Given the description of an element on the screen output the (x, y) to click on. 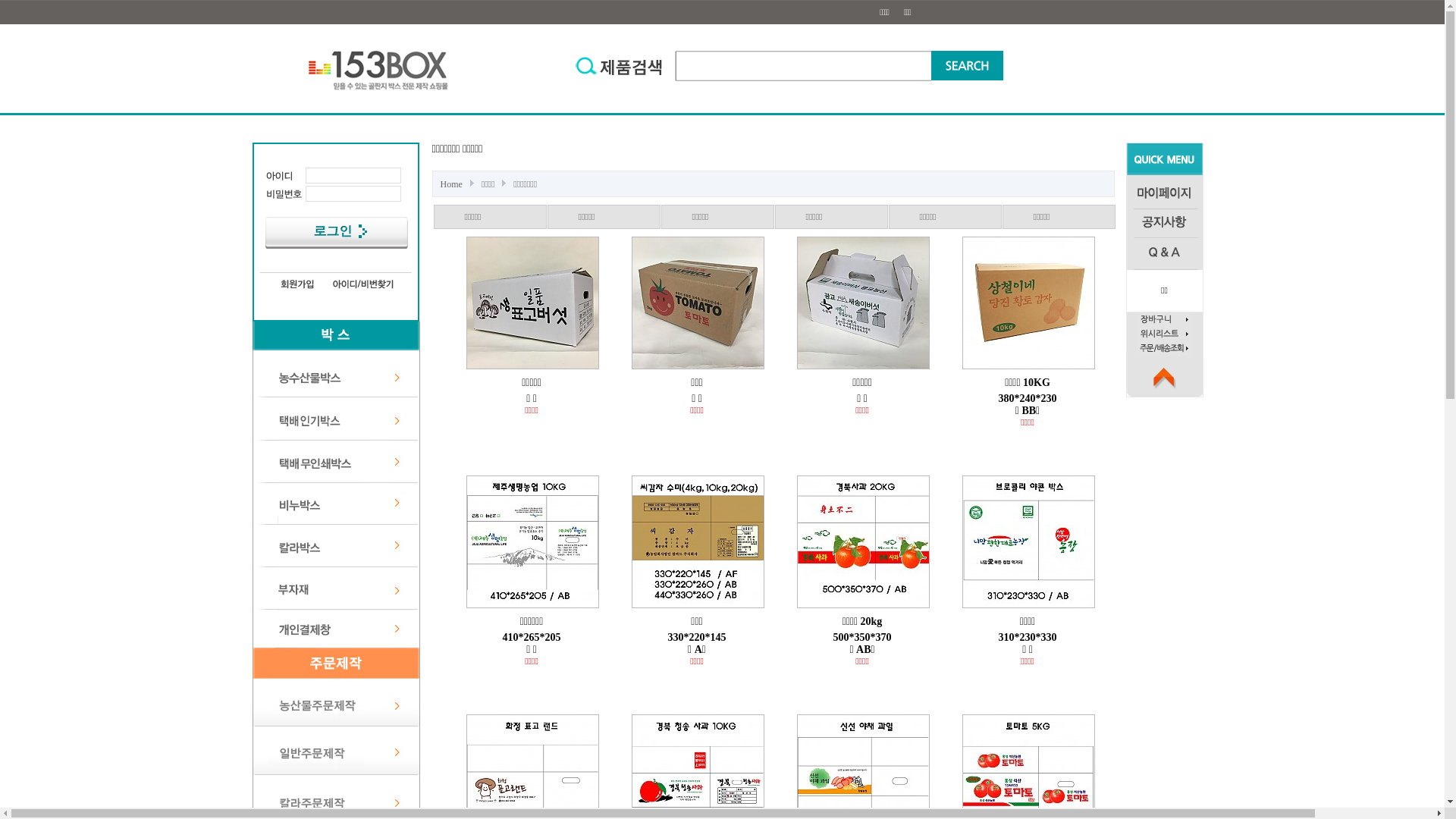
Home Element type: text (452, 183)
